Given the description of an element on the screen output the (x, y) to click on. 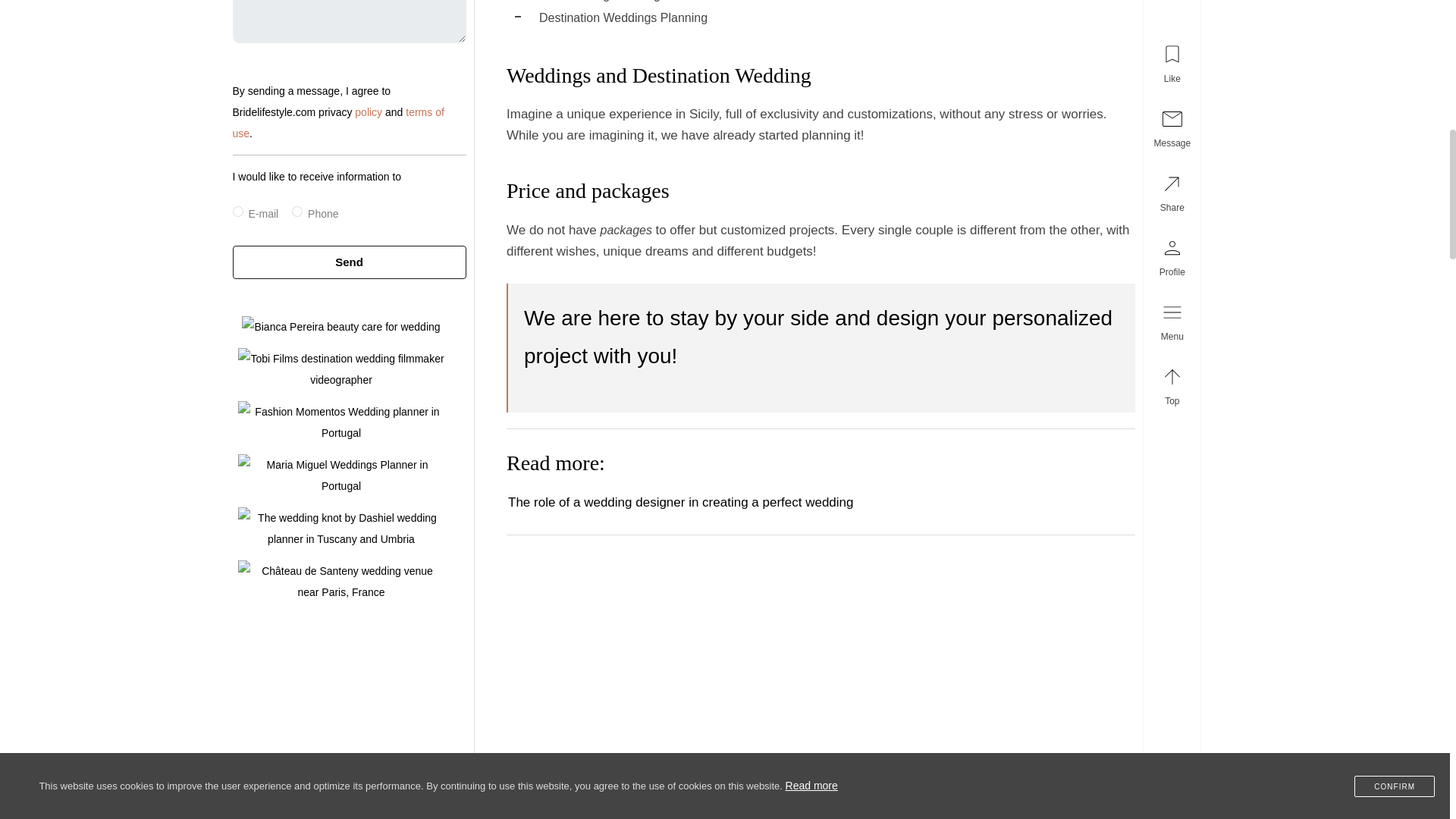
Maria Miguel Weddings Planner in Portugal (341, 475)
Bianca Pereira beauty care for wedding (340, 326)
E-mail (237, 211)
Tobi Films destination wedding filmmaker videographer (341, 369)
Fashion Momentos Wedding planner in Portugal (341, 422)
Phone (297, 211)
